Given the description of an element on the screen output the (x, y) to click on. 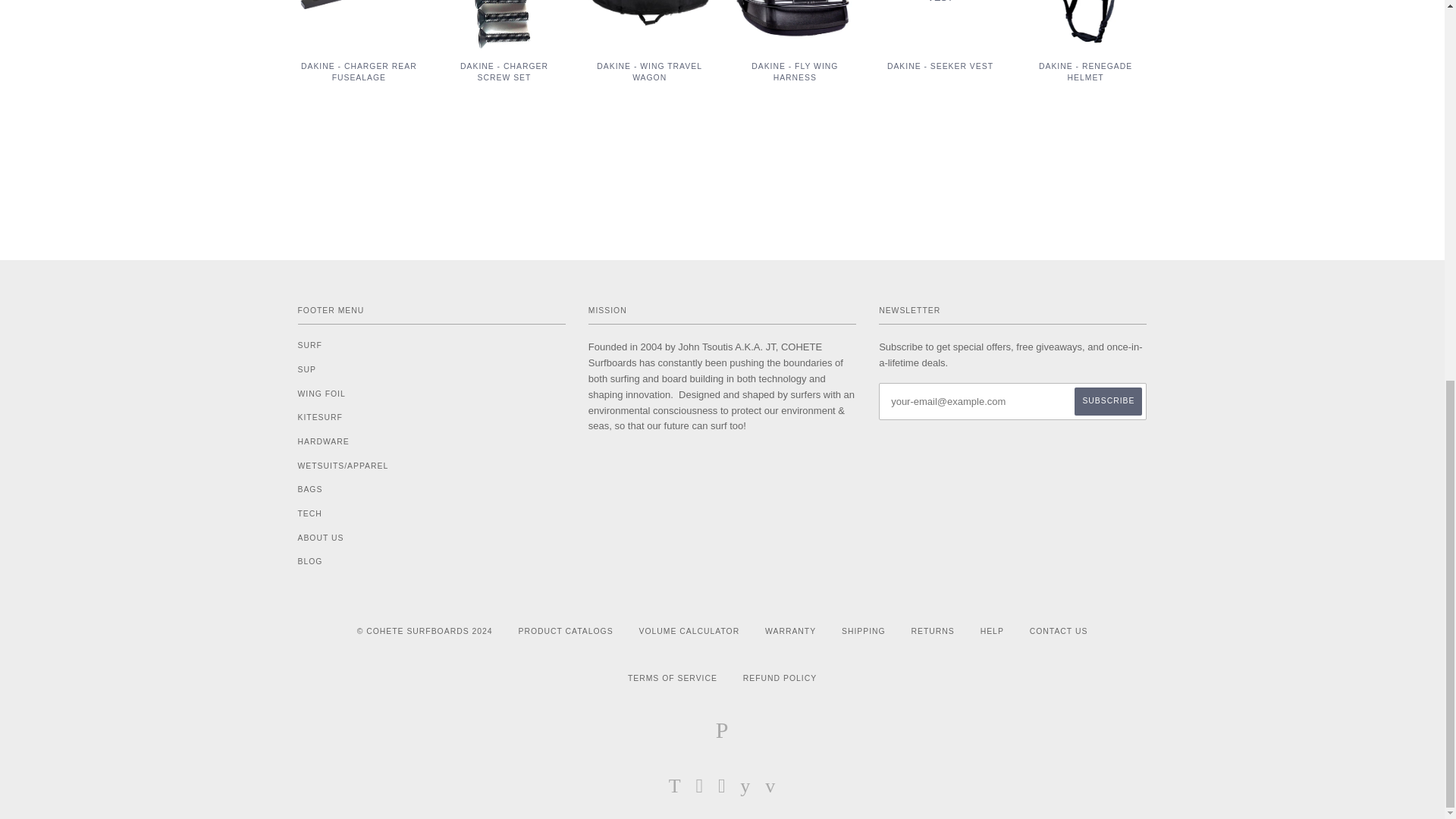
Cohete Surfboards on Facebook (699, 789)
Cohete Surfboards on Instagram (721, 789)
Cohete Surfboards on Twitter (674, 789)
Cohete Surfboards on Vimeo (770, 789)
Subscribe (1107, 401)
Cohete Surfboards on Youtube (745, 789)
